Given the description of an element on the screen output the (x, y) to click on. 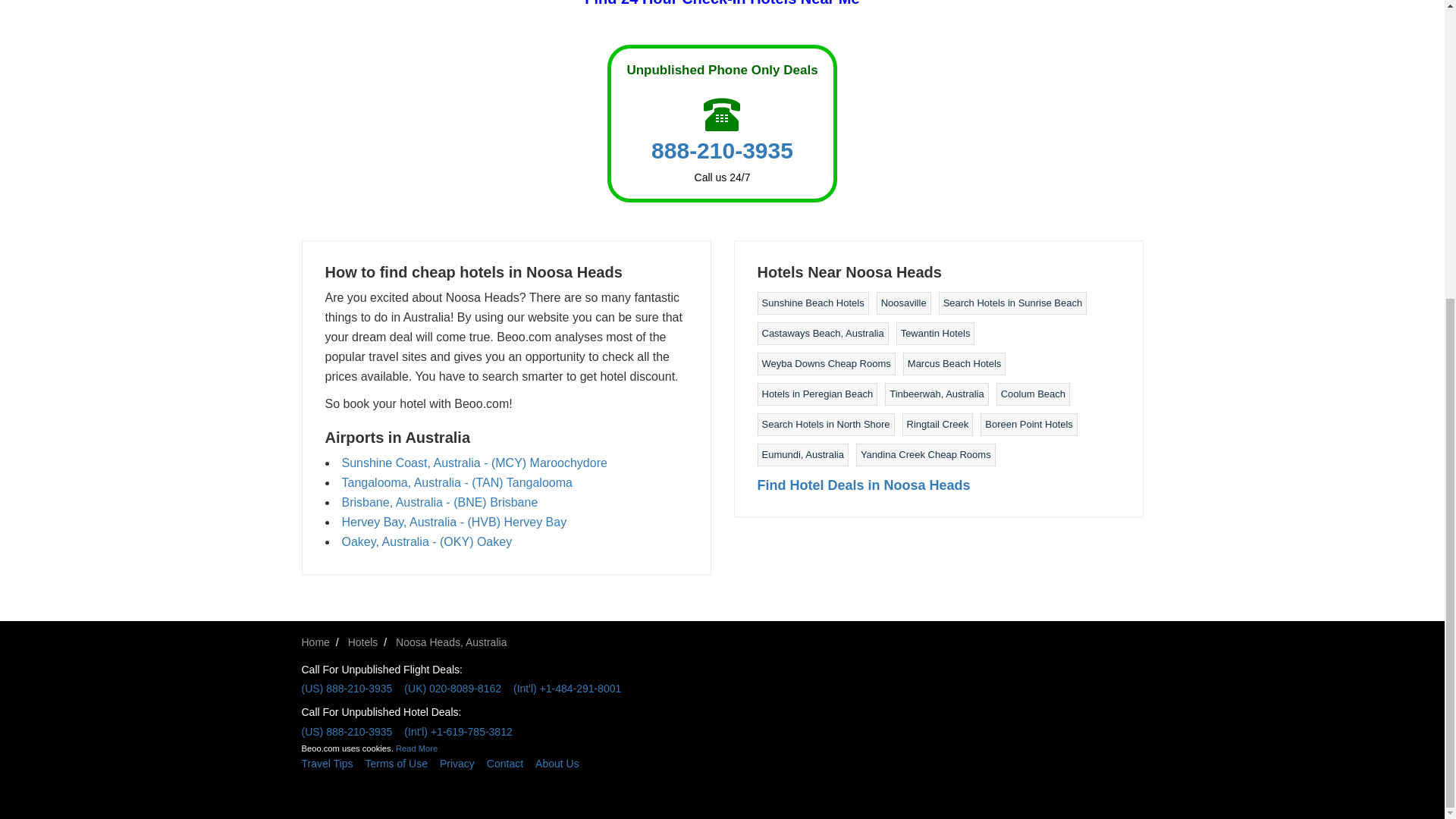
Tewantin Hotels (936, 333)
Travel Tips (333, 763)
Ringtail Creek (938, 423)
Yandina Creek Cheap Rooms (925, 454)
Castaways Beach, Australia (822, 333)
Search Hotels in Sunrise Beach (1013, 302)
Coolum Beach (1033, 393)
Hotels (362, 642)
Weyba Downs Cheap Rooms (825, 363)
Sunshine Beach Hotels (812, 302)
Noosaville (903, 302)
Terms of Use (402, 763)
Tinbeerwah, Australia (936, 393)
Search Hotels in North Shore (825, 423)
Find Hotel Deals in Noosa Heads (863, 485)
